Given the description of an element on the screen output the (x, y) to click on. 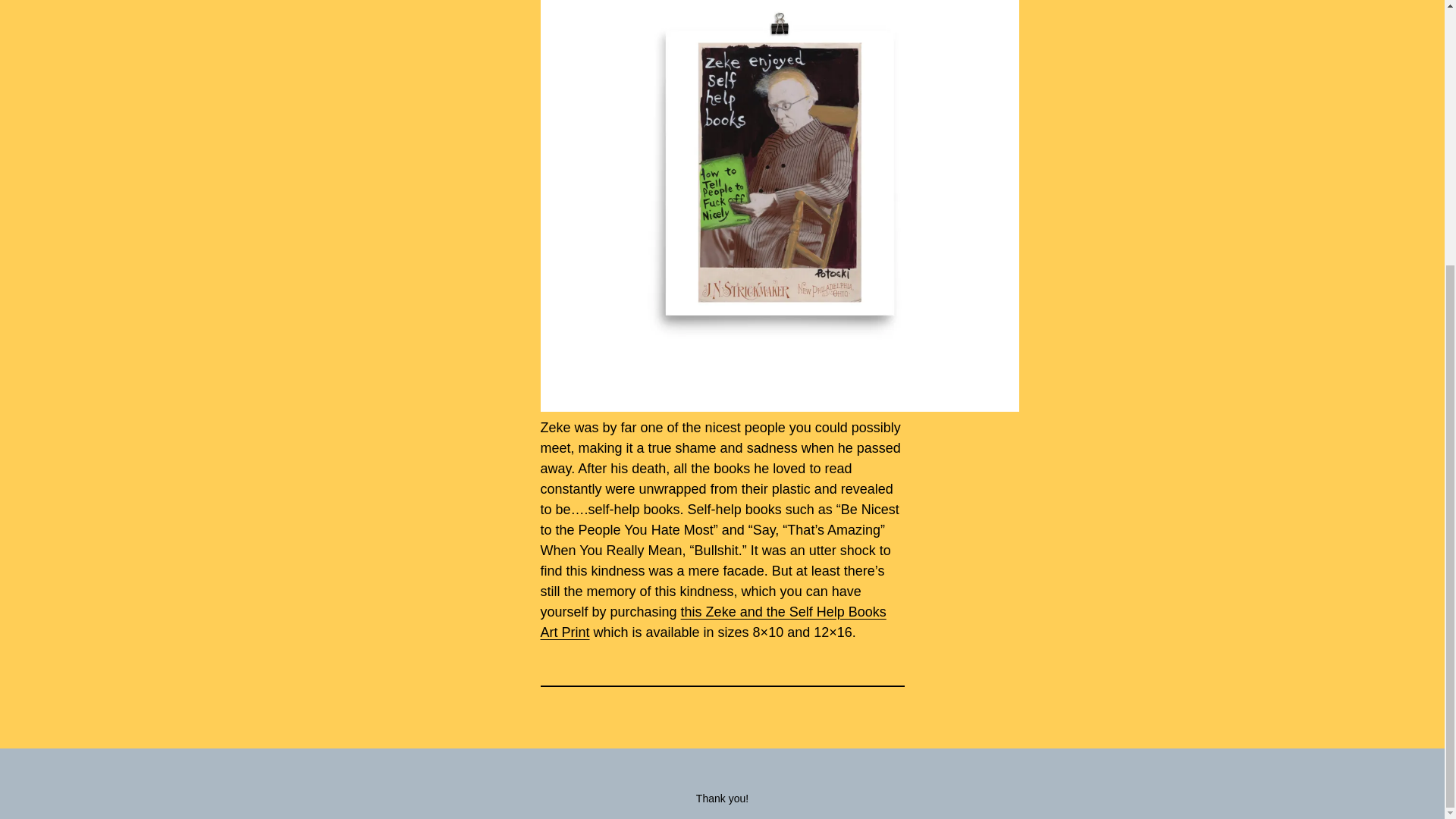
this Zeke and the Self Help Books Art Print (712, 621)
